Given the description of an element on the screen output the (x, y) to click on. 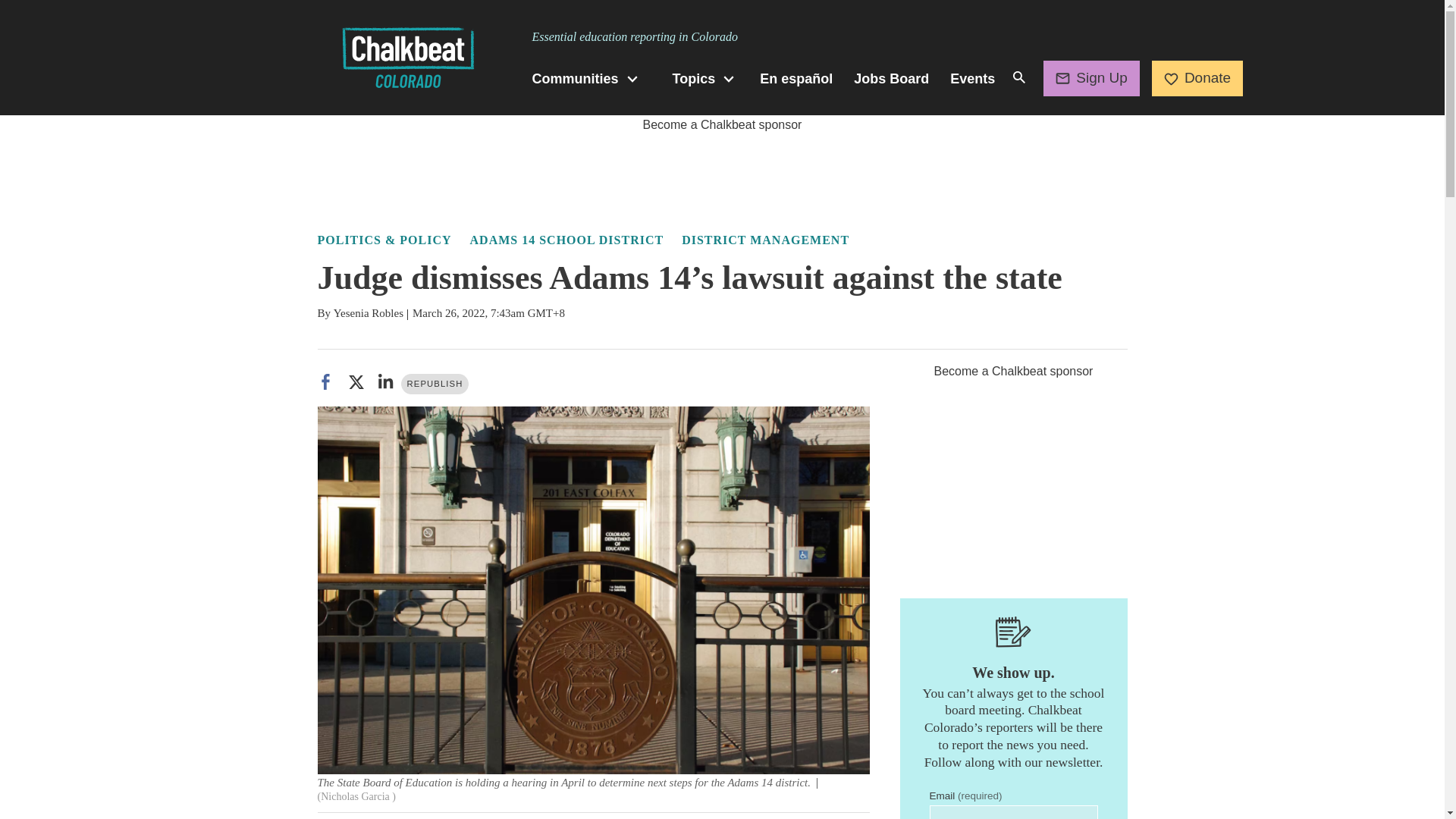
Become a Chalkbeat sponsor (722, 124)
Events (972, 79)
Donate (1197, 77)
Sign Up (1091, 77)
Jobs Board (890, 79)
